Given the description of an element on the screen output the (x, y) to click on. 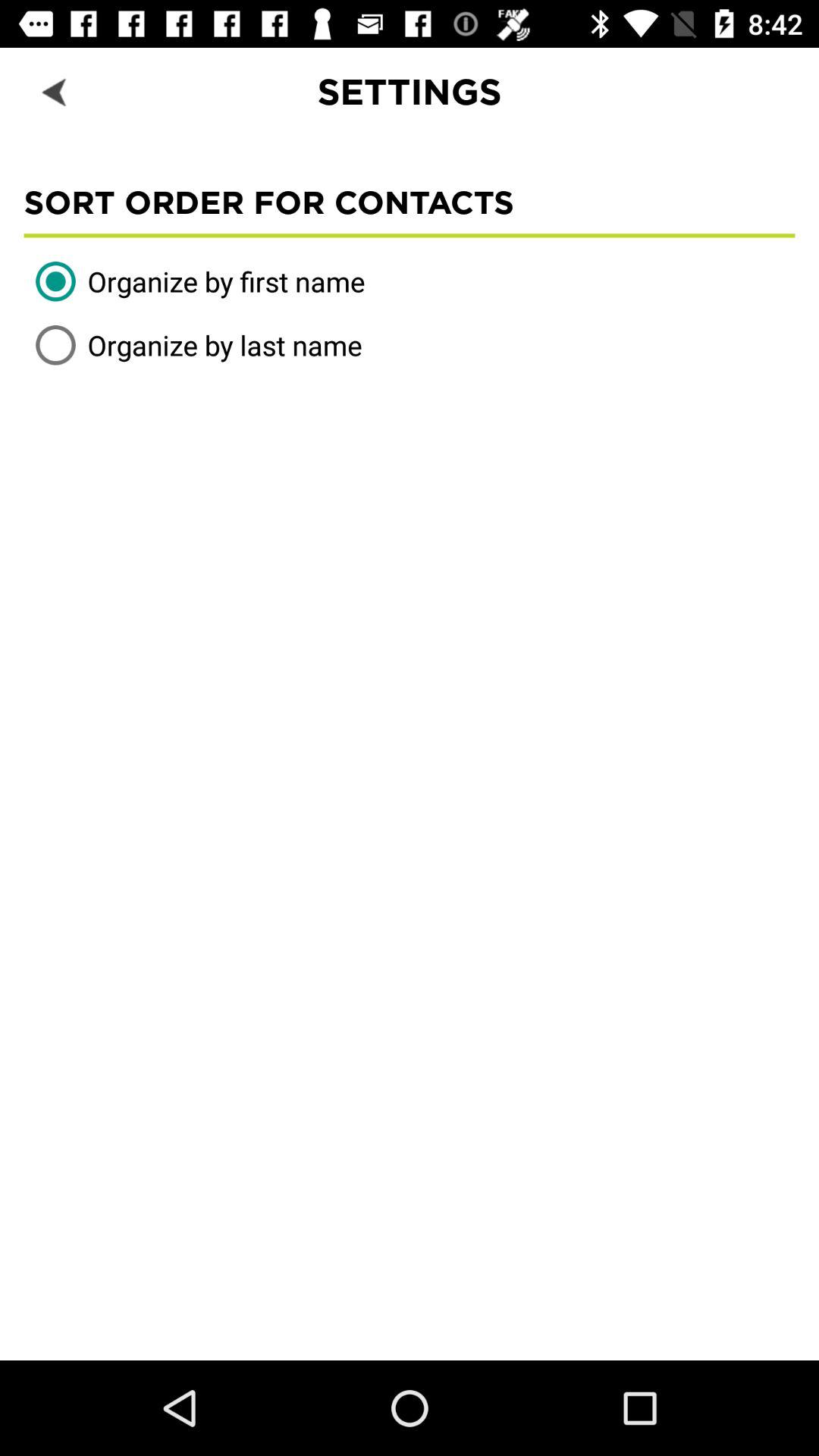
click the item to the left of settings (55, 91)
